Given the description of an element on the screen output the (x, y) to click on. 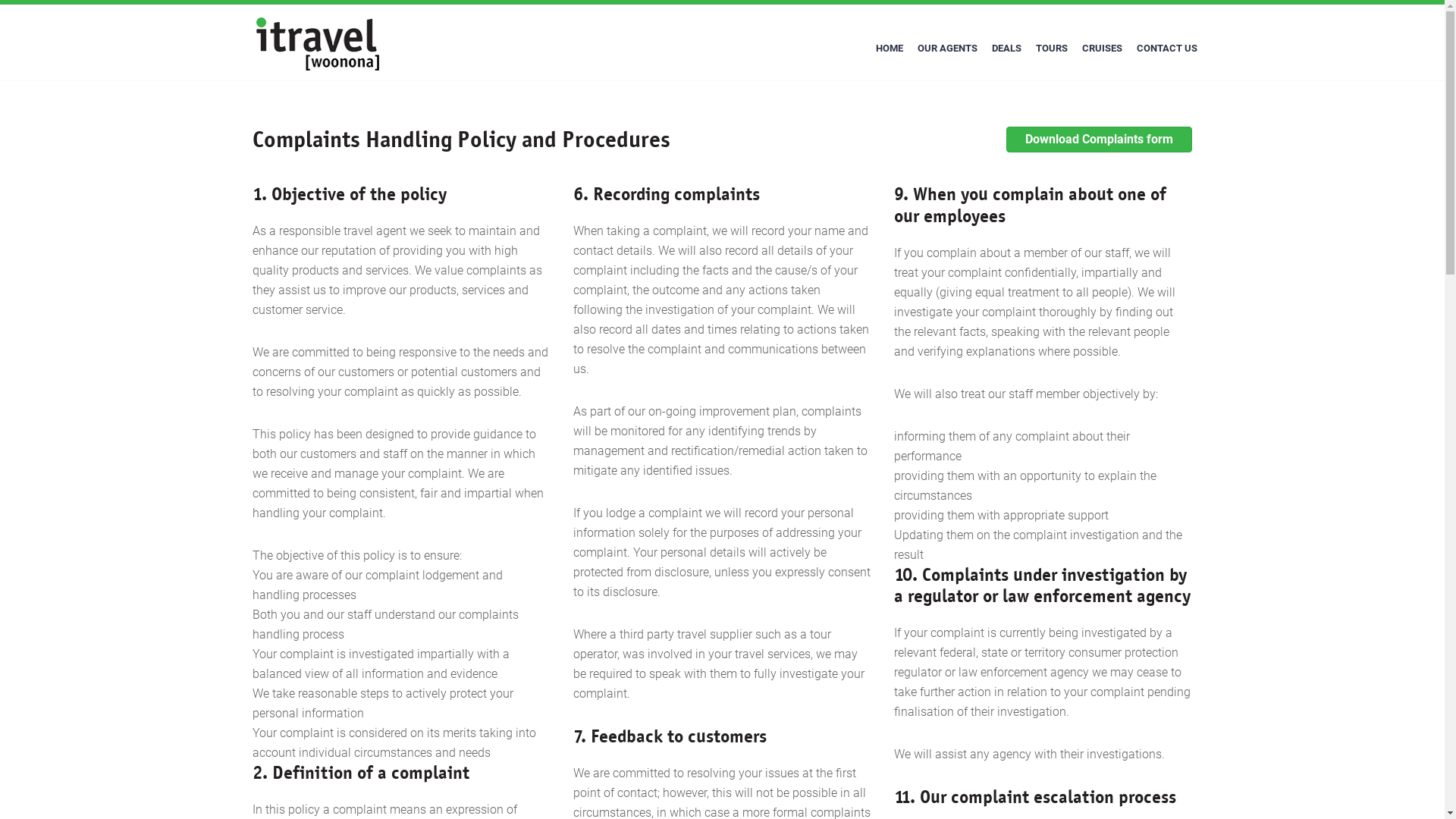
CONTACT US Element type: text (1166, 47)
itravelwoonona.com.au-logo Element type: hover (317, 42)
DEALS Element type: text (1005, 47)
Download Complaints form Element type: text (1099, 139)
TOURS Element type: text (1050, 47)
OUR AGENTS Element type: text (946, 47)
Skip to main content Element type: text (0, 0)
CRUISES Element type: text (1102, 47)
HOME Element type: text (889, 47)
